Given the description of an element on the screen output the (x, y) to click on. 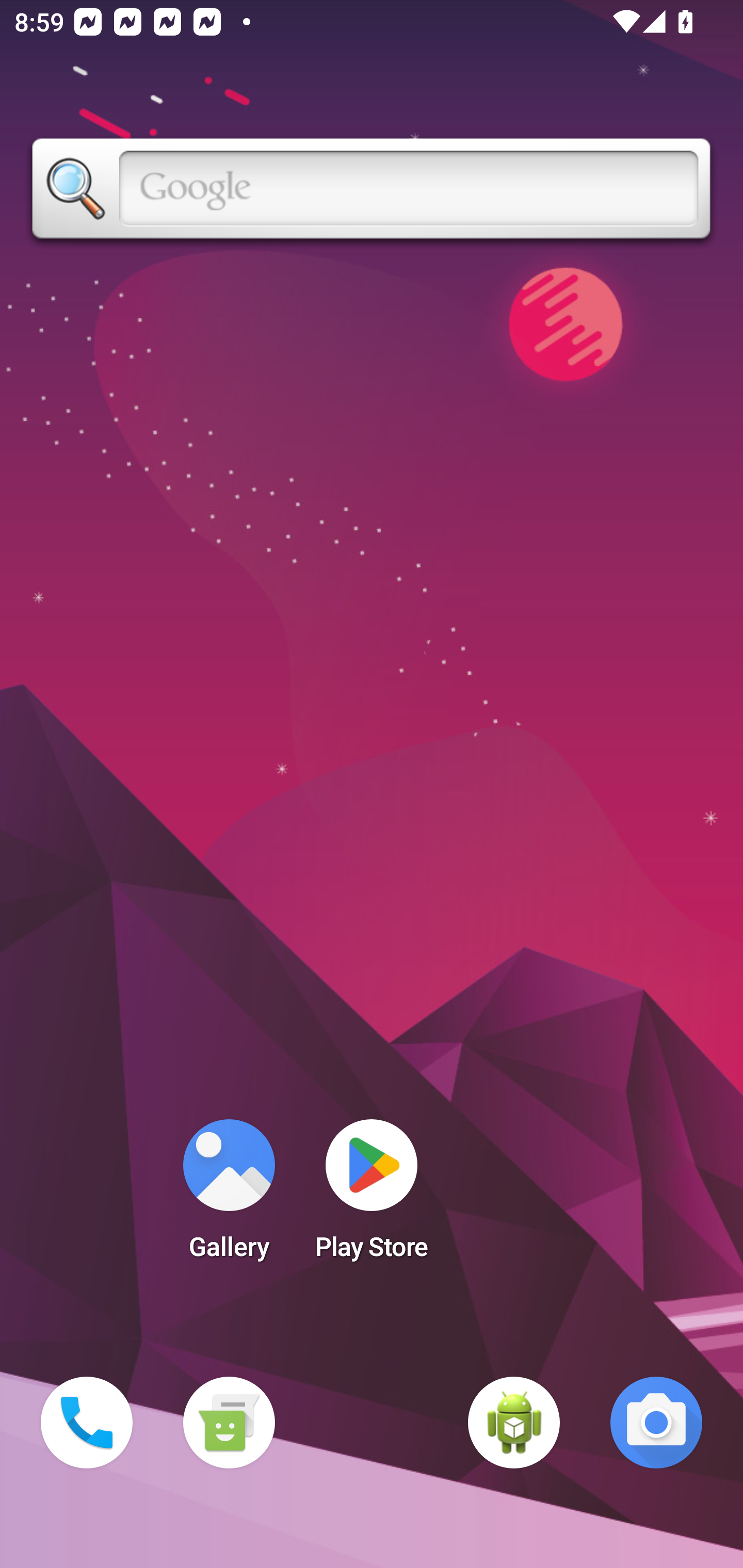
Gallery (228, 1195)
Play Store (371, 1195)
Phone (86, 1422)
Messaging (228, 1422)
WebView Browser Tester (513, 1422)
Camera (656, 1422)
